Given the description of an element on the screen output the (x, y) to click on. 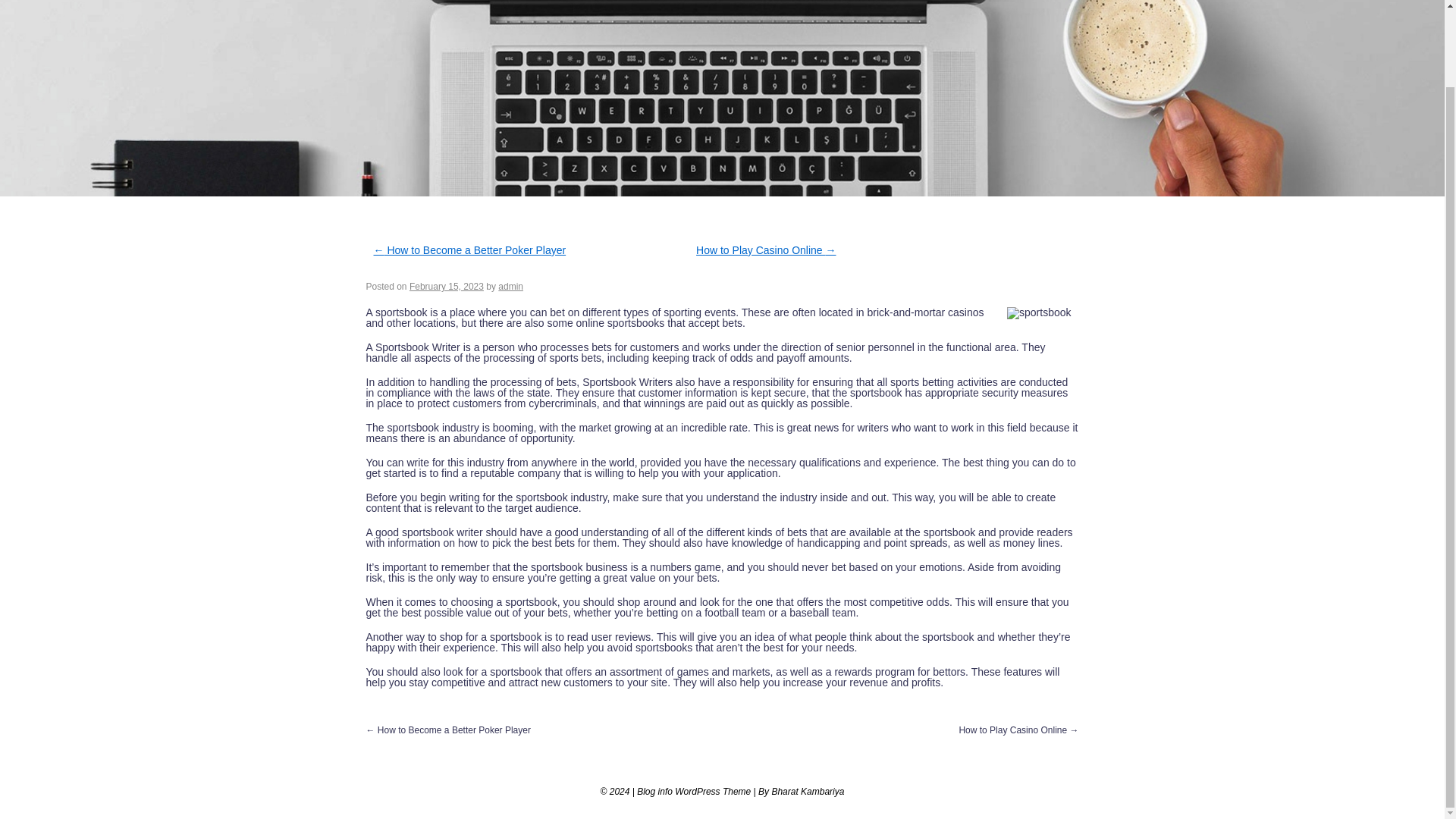
February 15, 2023 (446, 286)
admin (509, 286)
View all posts by admin (509, 286)
5:38 pm (446, 286)
